Given the description of an element on the screen output the (x, y) to click on. 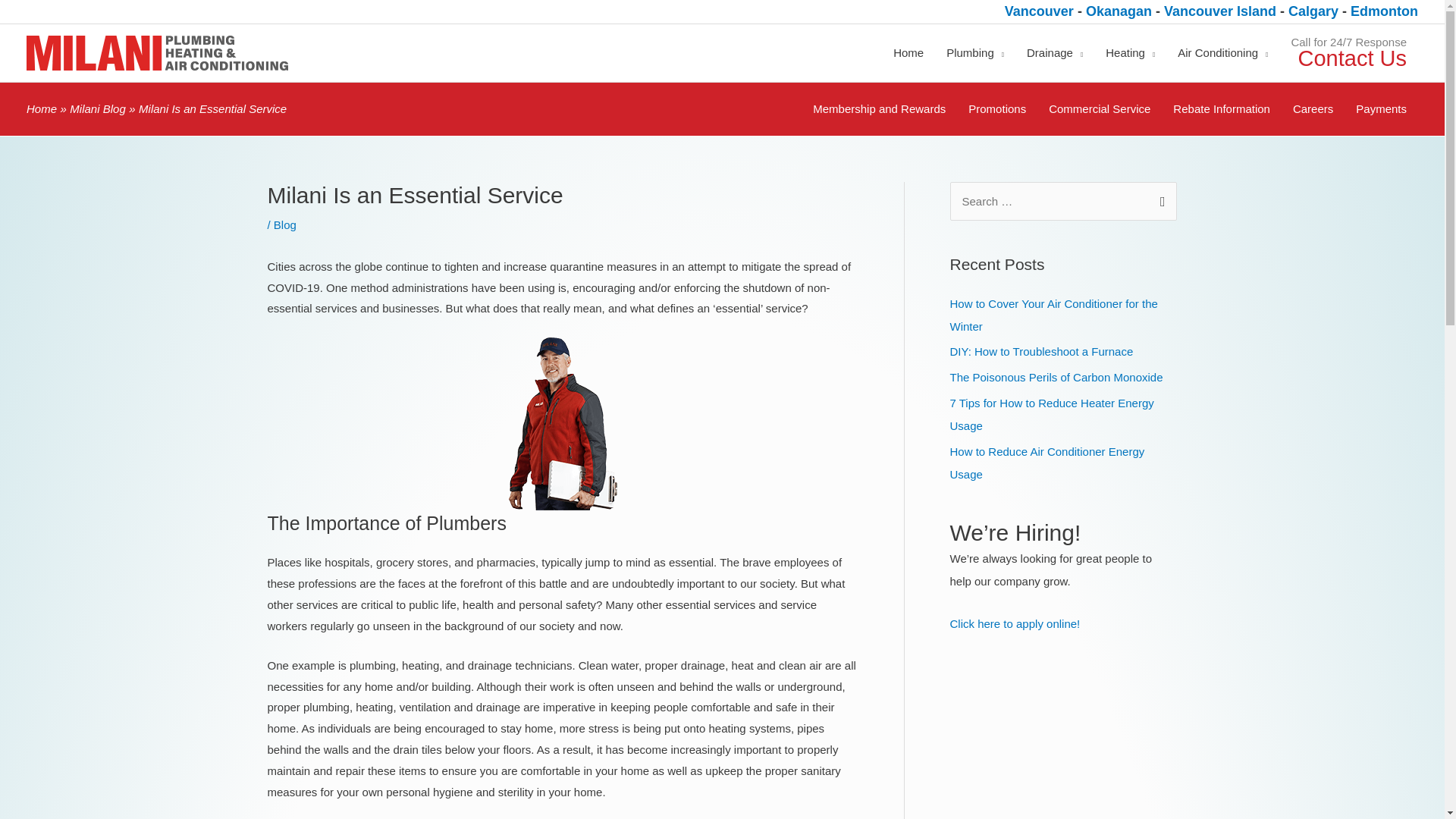
Vancouver Island (1221, 11)
Air Conditioning (1222, 52)
Okanagan (1121, 11)
Calgary (1315, 11)
Vancouver (1039, 11)
Edmonton (1384, 11)
Home (908, 52)
Plumbing (974, 52)
Search (1158, 196)
Drainage (1054, 52)
